Given the description of an element on the screen output the (x, y) to click on. 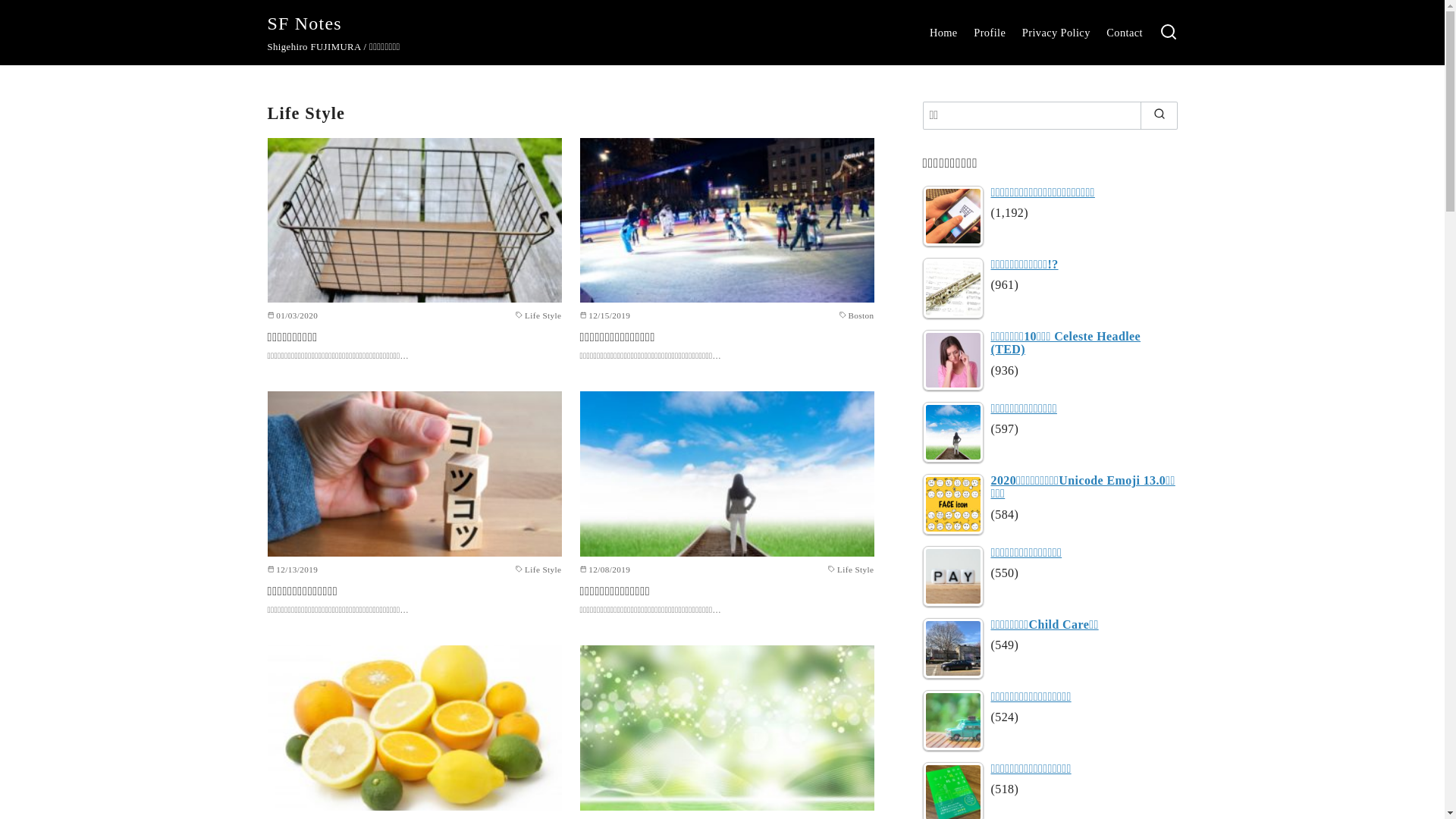
Privacy Policy Element type: text (1056, 32)
SF Notes Element type: text (303, 23)
Profile Element type: text (989, 32)
Home Element type: text (943, 32)
Contact Element type: text (1124, 32)
